Given the description of an element on the screen output the (x, y) to click on. 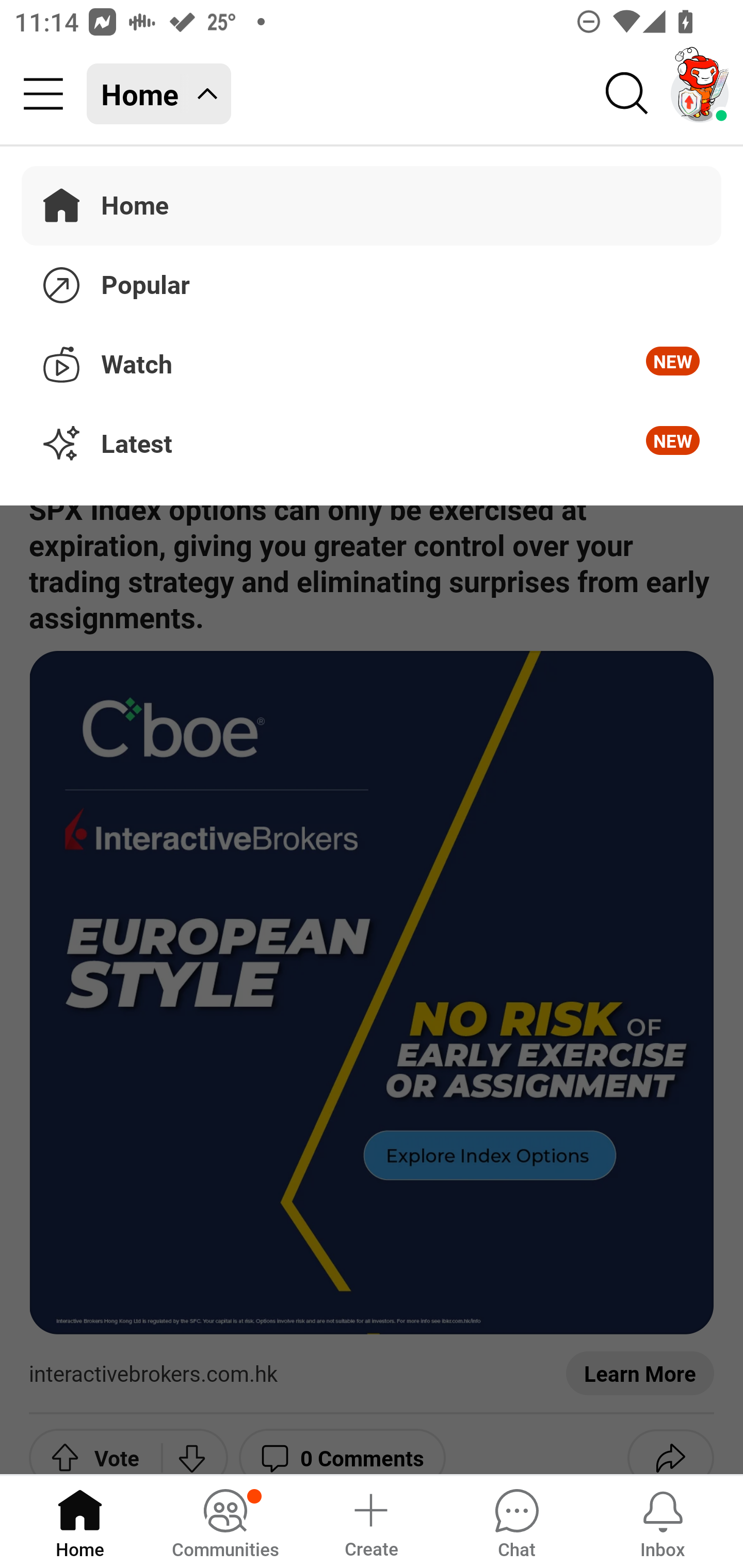
Community menu (43, 93)
Home Home feed (158, 93)
Search (626, 93)
TestAppium002 account (699, 93)
Popular Popular feed (371, 281)
Watch Watch feed Click to open a new feed (371, 361)
Latest Latest feed Click to open a new feed (371, 444)
Home (80, 1520)
Communities, has notifications Communities (225, 1520)
Create a post Create (370, 1520)
Chat (516, 1520)
Inbox (662, 1520)
